Given the description of an element on the screen output the (x, y) to click on. 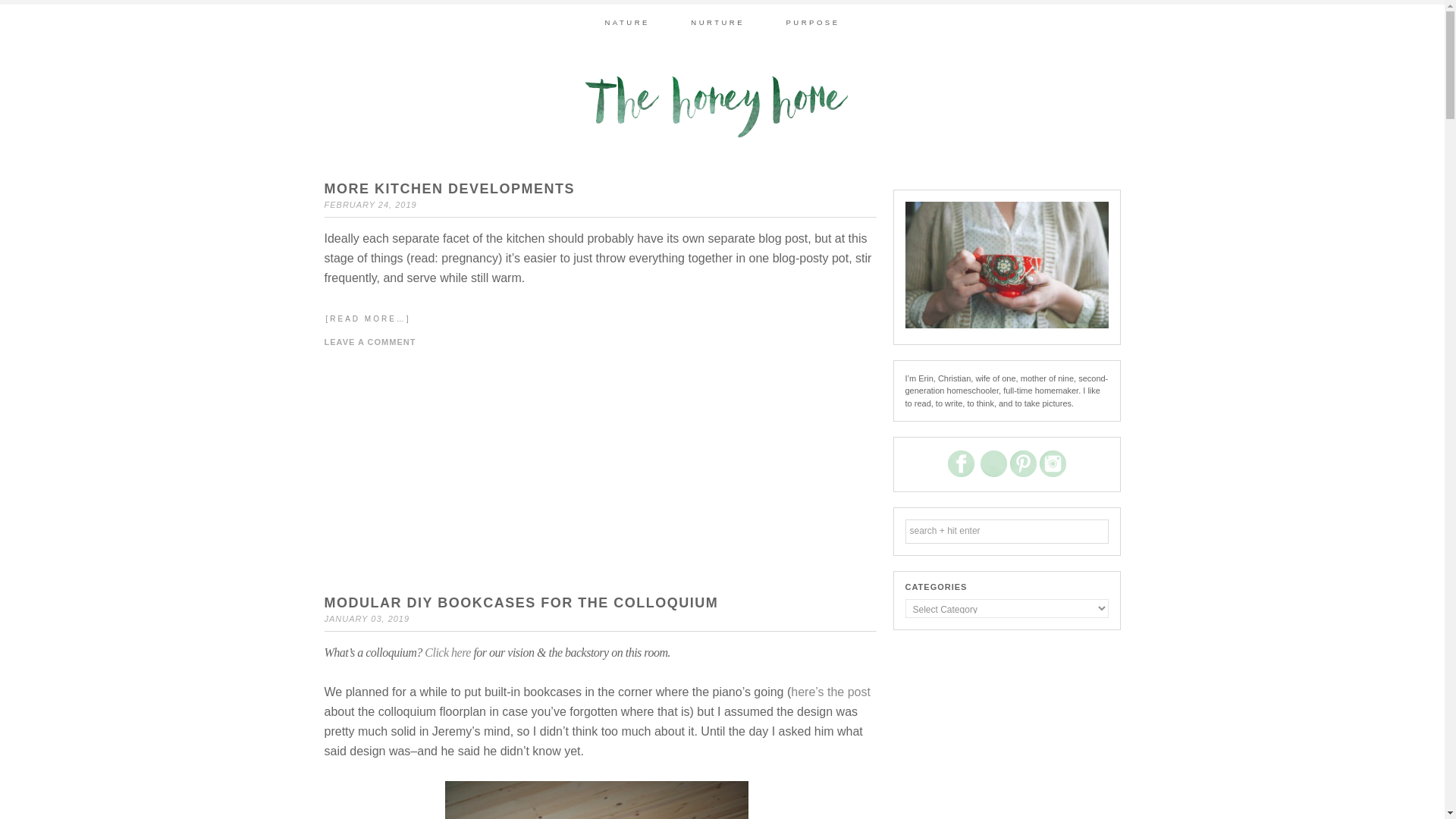
Click here (447, 652)
PURPOSE (813, 22)
MORE KITCHEN DEVELOPMENTS (449, 188)
NATURE (626, 22)
MODULAR DIY BOOKCASES FOR THE COLLOQUIUM (521, 602)
NURTURE (716, 22)
LEAVE A COMMENT (370, 340)
THE HONEY HOME (721, 105)
